Given the description of an element on the screen output the (x, y) to click on. 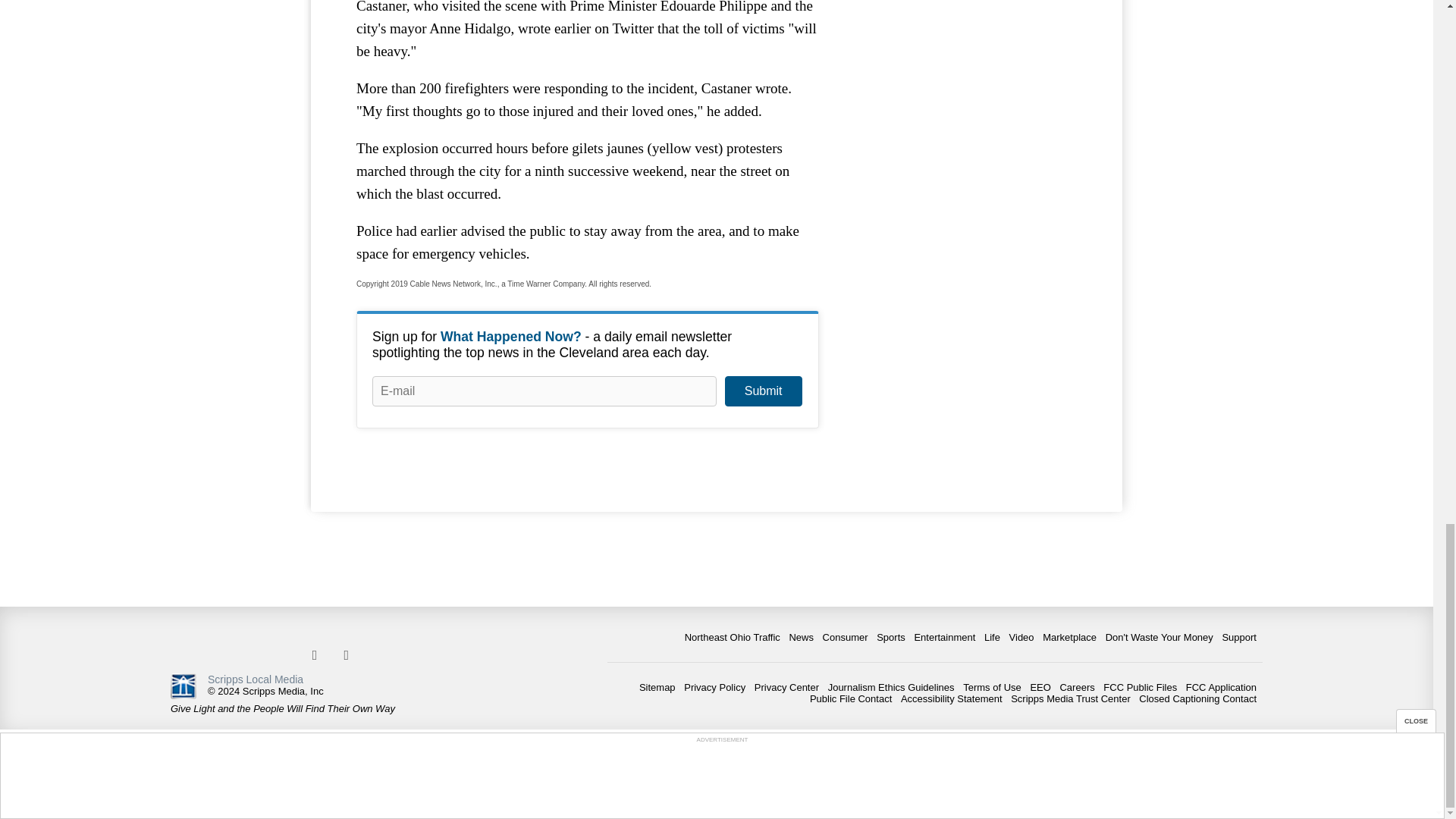
Submit (763, 390)
